Given the description of an element on the screen output the (x, y) to click on. 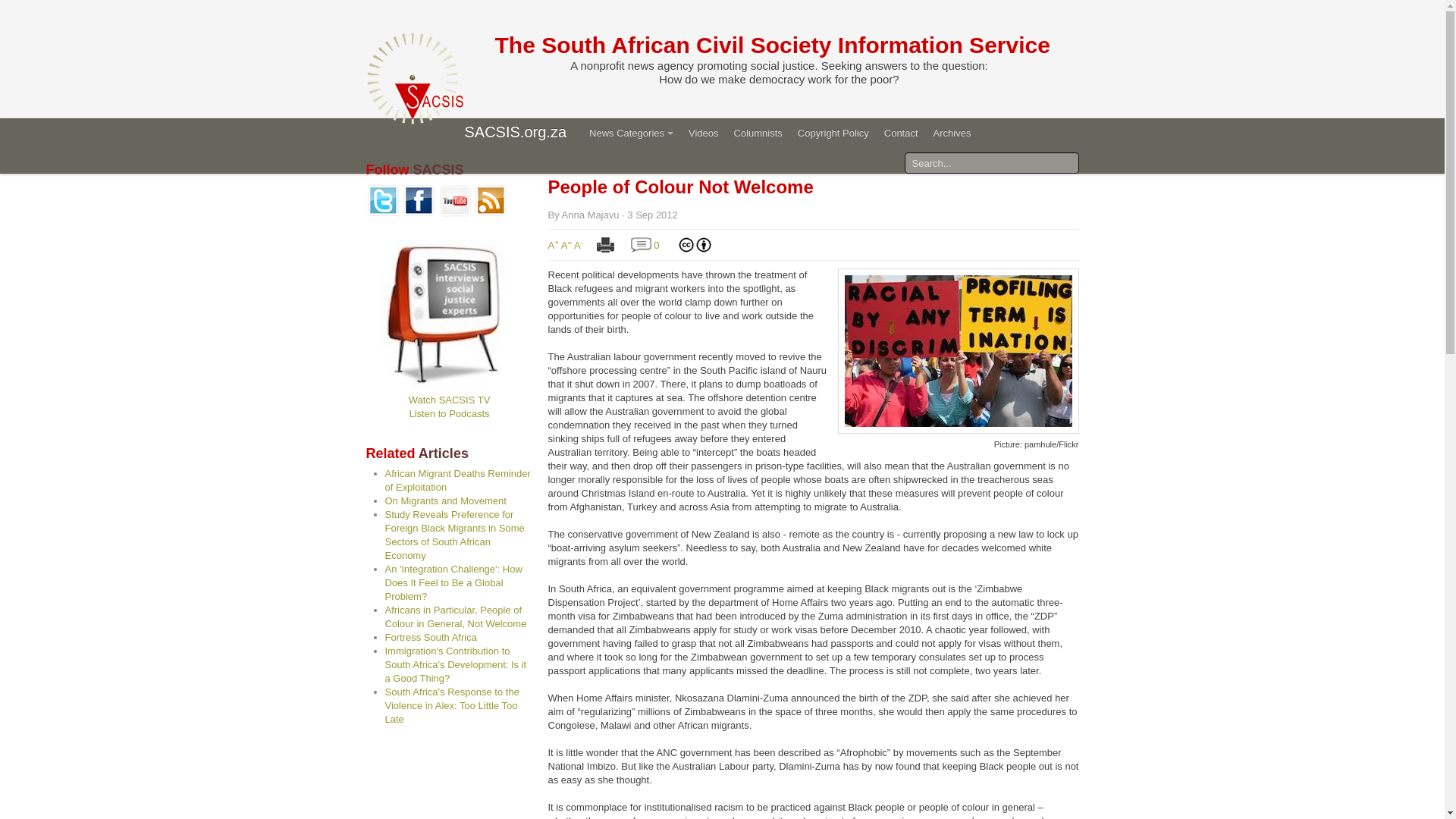
Videos (703, 132)
Fortress South Africa (431, 636)
Contact (901, 132)
Print this page (605, 245)
A- (578, 244)
0 comments (640, 245)
Twitter (381, 200)
Columnists (758, 132)
Copyright Policy (833, 132)
On Migrants and Movement (445, 500)
Anna Majavu (591, 214)
